Given the description of an element on the screen output the (x, y) to click on. 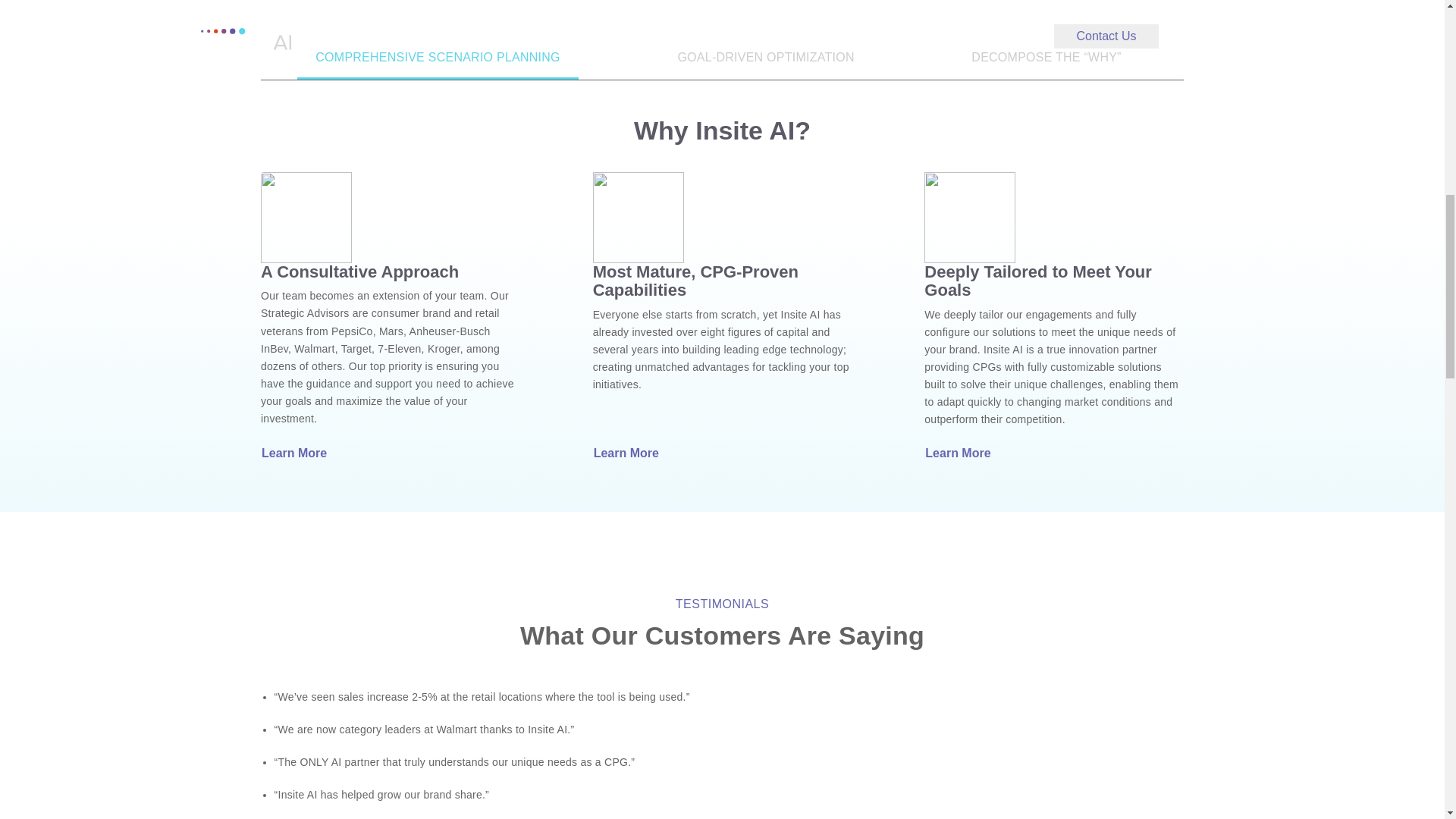
Learn More (628, 453)
Learn More (960, 453)
COMPREHENSIVE SCENARIO PLANNING (437, 58)
Learn More (296, 453)
GOAL-DRIVEN OPTIMIZATION (765, 58)
